Given the description of an element on the screen output the (x, y) to click on. 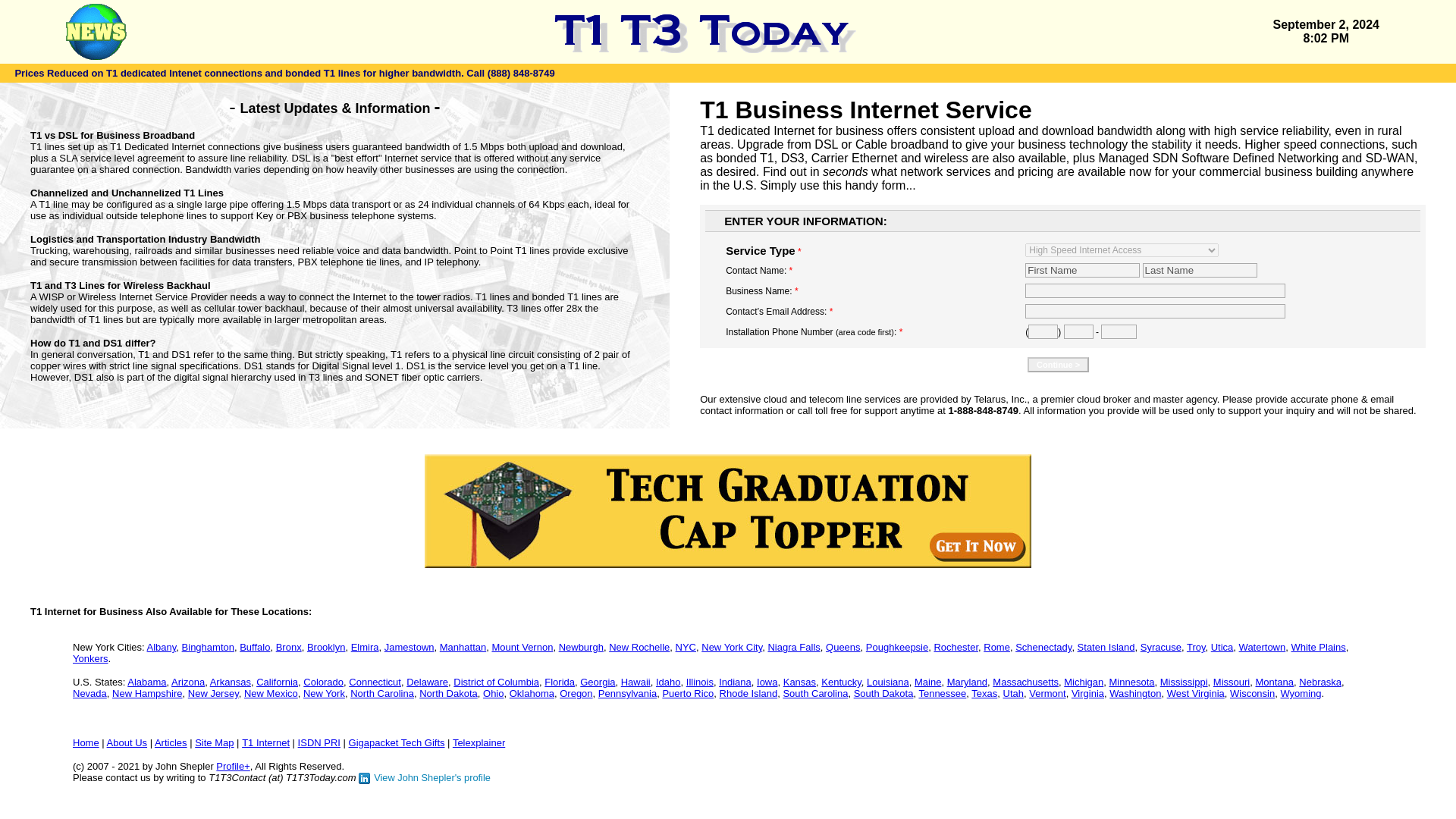
Jamestown (408, 646)
Manhattan (462, 646)
Delaware (427, 681)
Buffalo (254, 646)
Arkansas (229, 681)
Georgia (596, 681)
Binghamton (208, 646)
Niagra Falls (793, 646)
Elmira (364, 646)
Rome (997, 646)
